Given the description of an element on the screen output the (x, y) to click on. 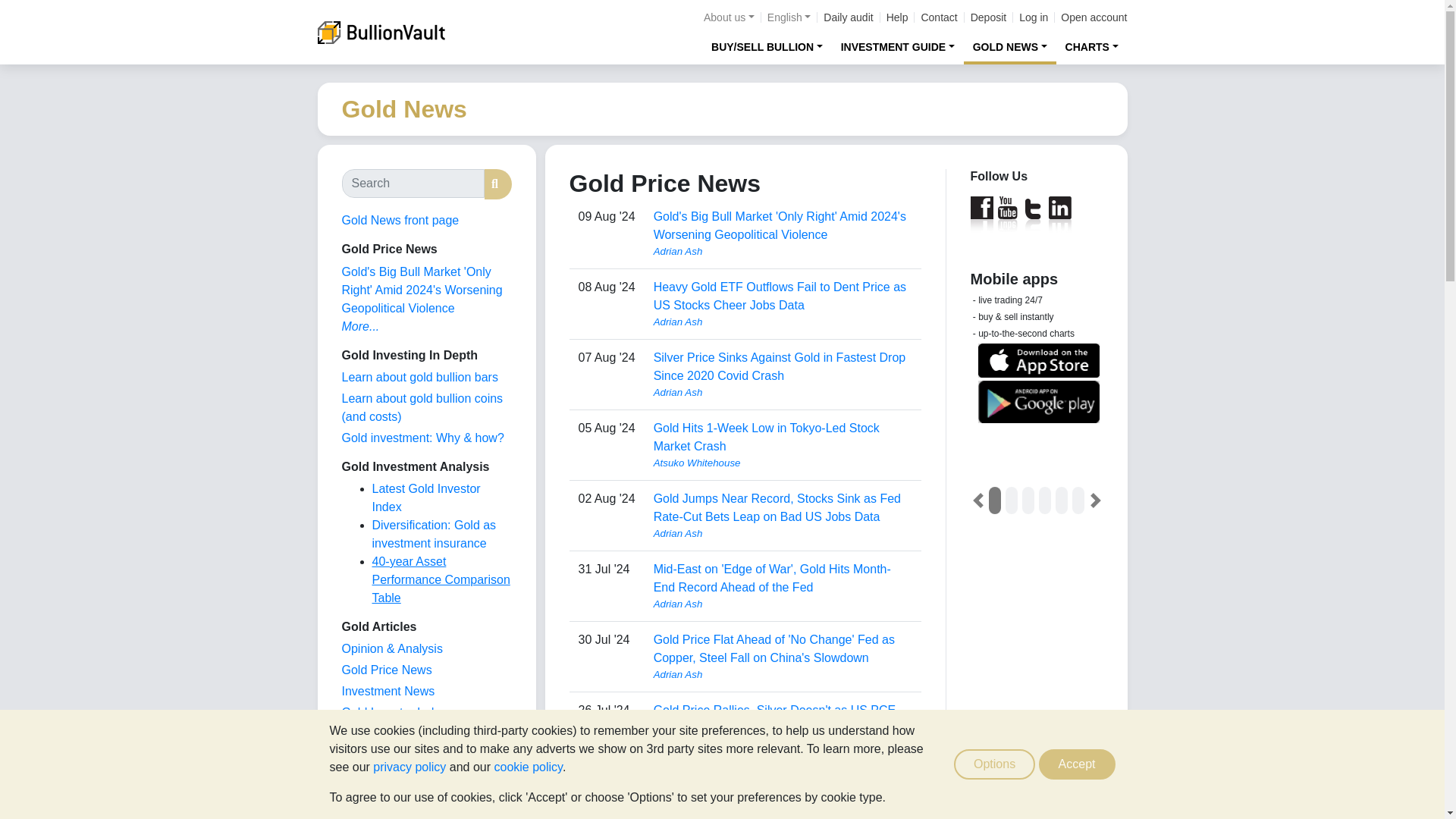
Contact (938, 17)
Gold Price News (385, 669)
Gold Infographics (387, 733)
View user profile. (782, 462)
INVESTMENT GUIDE (897, 46)
privacy policy (408, 766)
View user profile. (782, 392)
Gold Investor Index (393, 712)
Deposit (988, 17)
Accept (1077, 764)
